Given the description of an element on the screen output the (x, y) to click on. 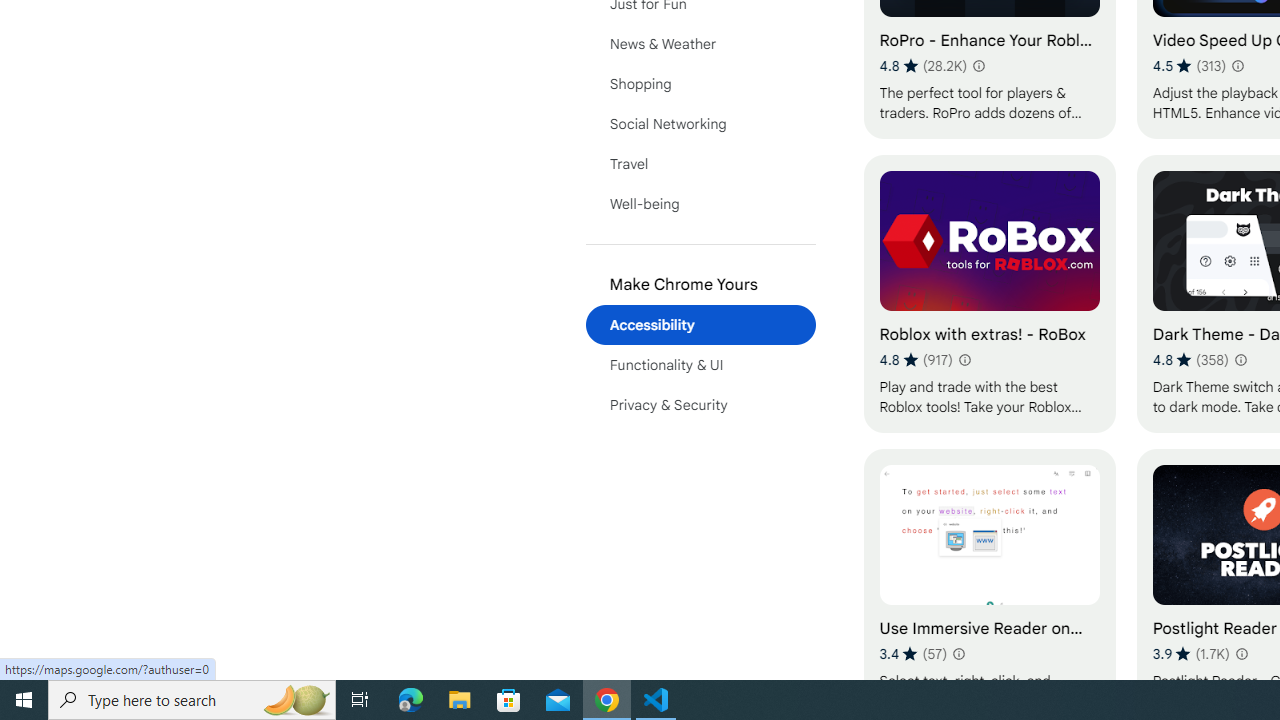
Roblox with extras! - RoBox (989, 293)
Privacy & Security (700, 404)
